Given the description of an element on the screen output the (x, y) to click on. 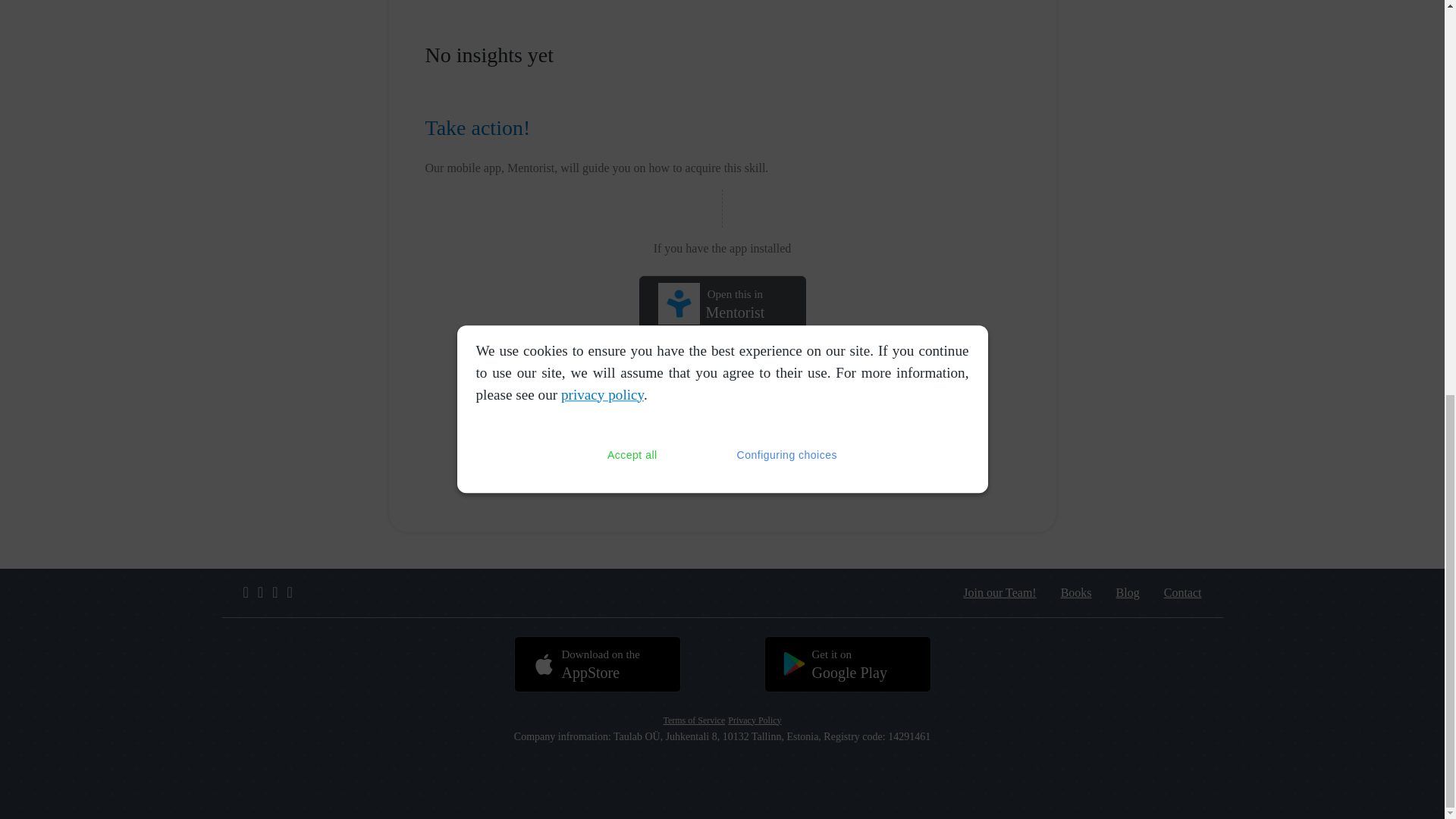
Terms of Service (693, 719)
Books (1075, 592)
Contact (1182, 592)
Join our Team! (722, 304)
Privacy Policy (596, 664)
Blog (999, 592)
